Given the description of an element on the screen output the (x, y) to click on. 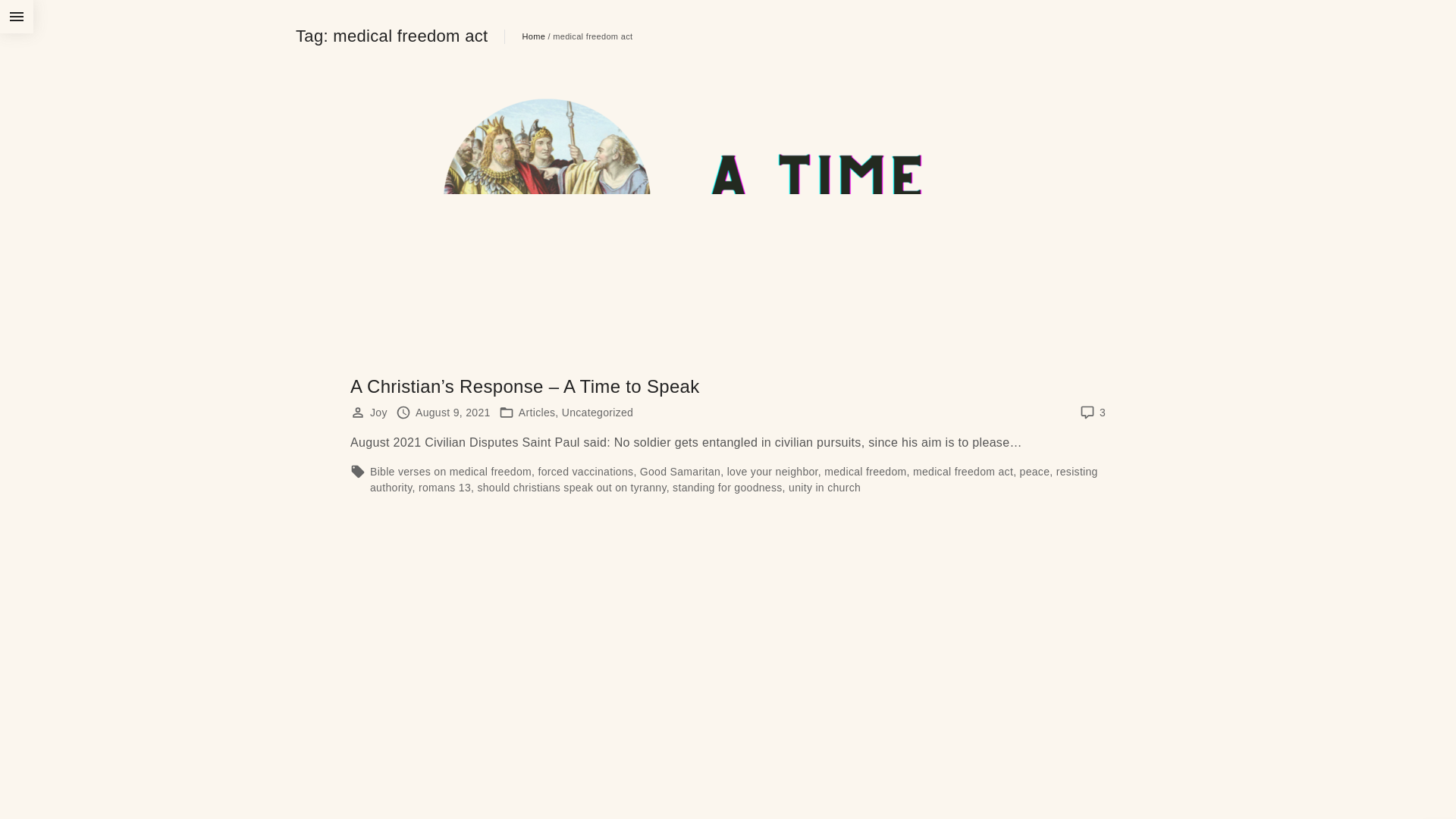
Uncategorized Element type: text (597, 412)
resisting authority Element type: text (734, 479)
August 9, 2021 Element type: text (452, 412)
love your neighbor Element type: text (772, 471)
peace Element type: text (1034, 471)
unity in church Element type: text (824, 486)
Bible verses on medical freedom Element type: text (450, 471)
medical freedom Element type: text (865, 471)
Joy Element type: text (378, 412)
Articles Element type: text (536, 412)
3 Element type: text (1102, 412)
medical freedom act Element type: text (963, 471)
standing for goodness Element type: text (727, 486)
Good Samaritan Element type: text (680, 471)
forced vaccinations Element type: text (585, 471)
Home Element type: text (533, 35)
romans 13 Element type: text (444, 486)
should christians speak out on tyranny Element type: text (570, 486)
